Given the description of an element on the screen output the (x, y) to click on. 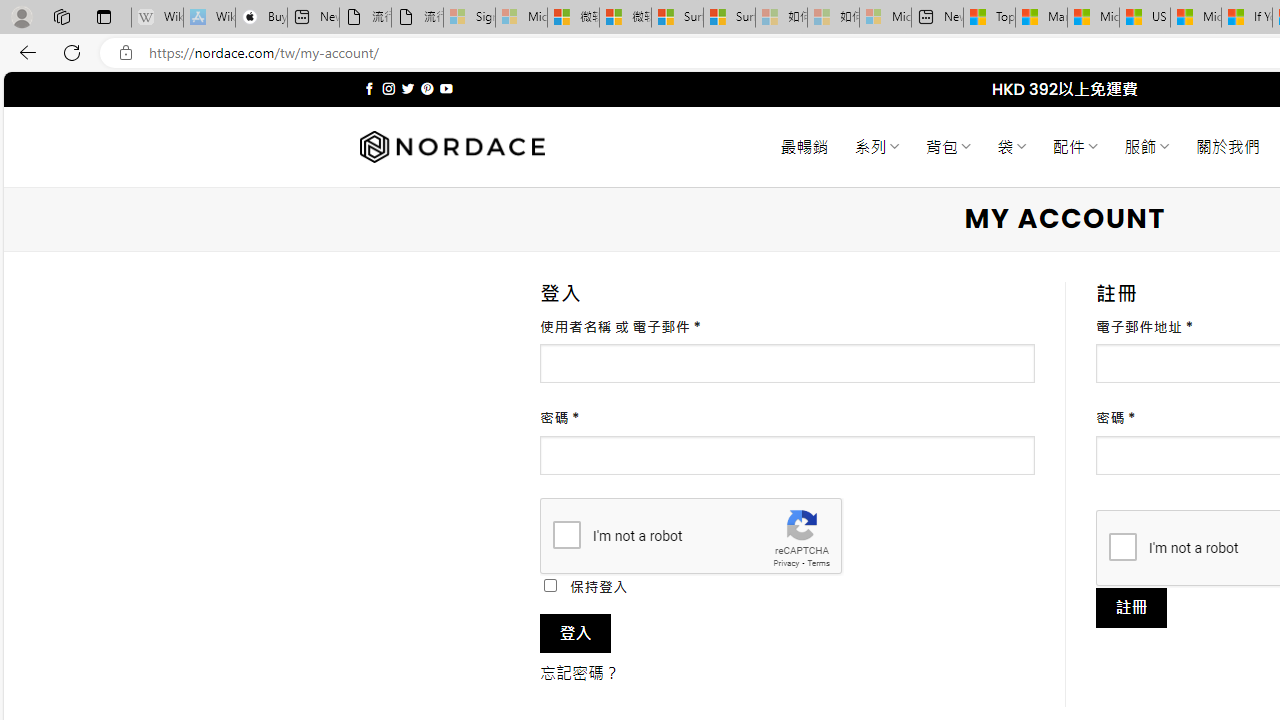
Follow on YouTube (446, 88)
Sign in to your Microsoft account - Sleeping (469, 17)
